Given the description of an element on the screen output the (x, y) to click on. 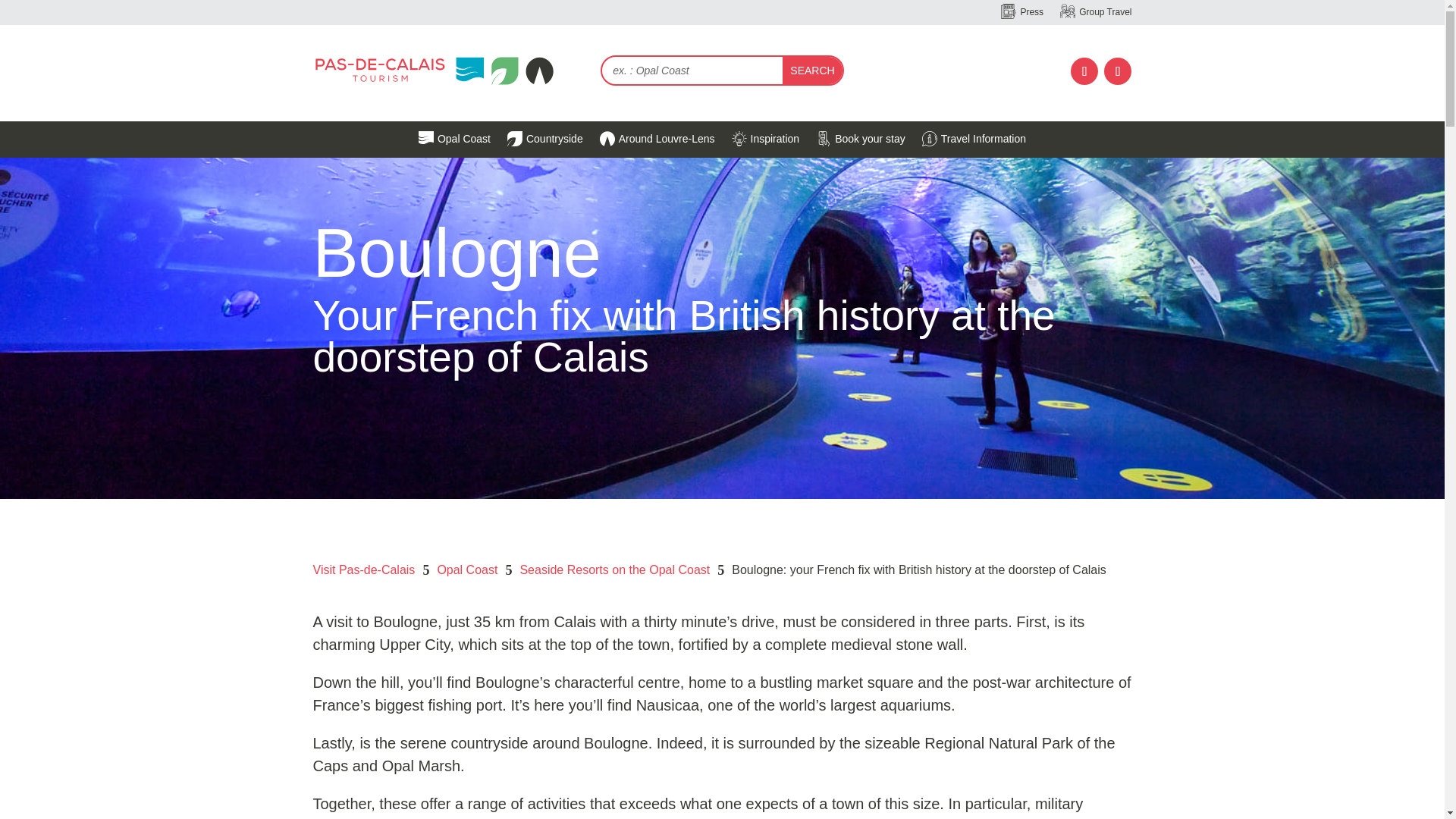
Around Louvre-Lens (656, 138)
Book your stay (860, 138)
Follow on Facebook (1083, 71)
Countryside (544, 138)
Search (812, 70)
Opal Coast (454, 138)
Search (812, 70)
Inspiration (765, 138)
Search (812, 70)
Travel Information (973, 138)
Group Travel (1095, 11)
Follow on Instagram (1117, 71)
Press (1022, 11)
